Given the description of an element on the screen output the (x, y) to click on. 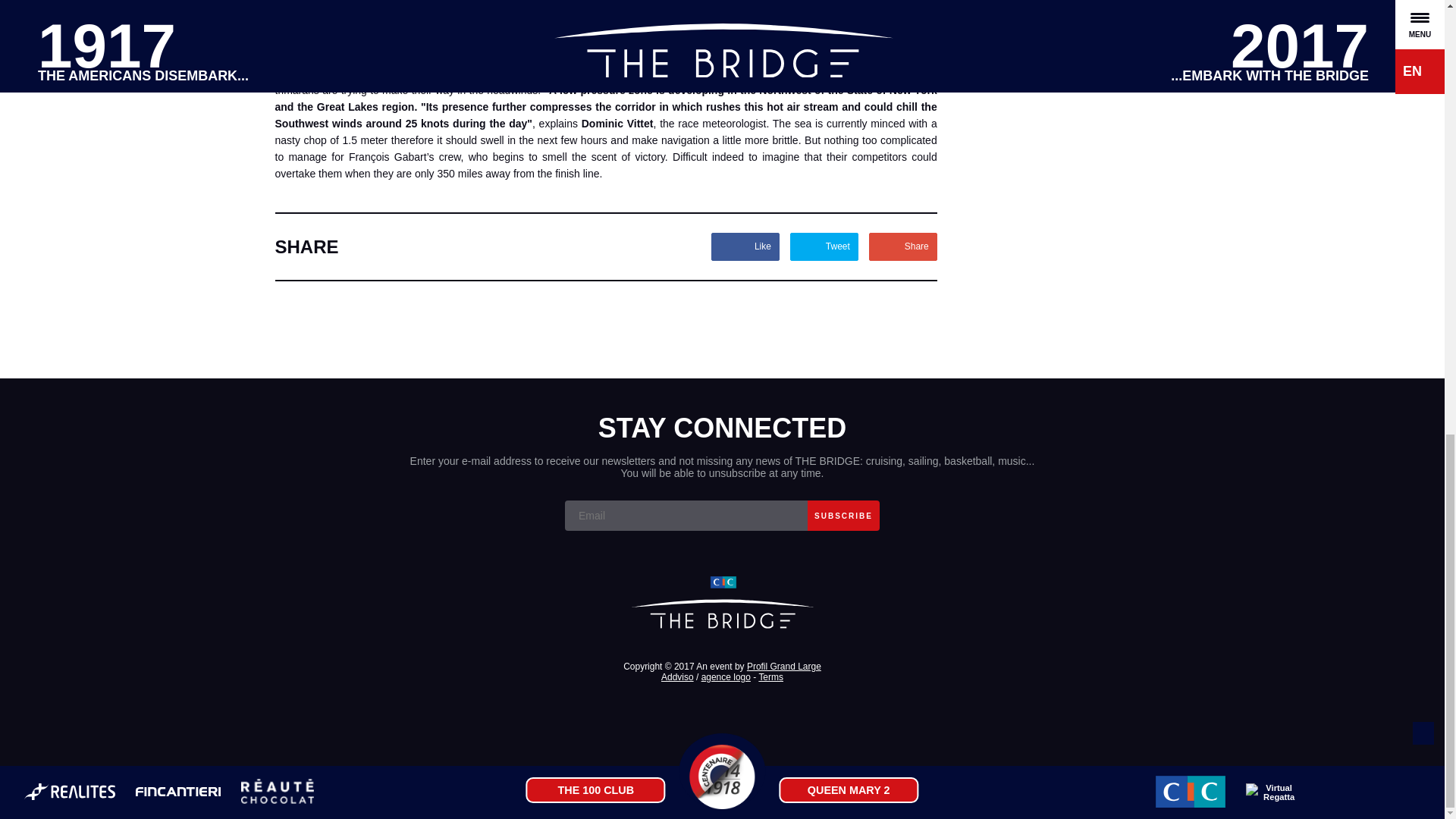
Subscribe (843, 515)
Shareon Twitter (824, 246)
Share on Facebook (744, 246)
